Given the description of an element on the screen output the (x, y) to click on. 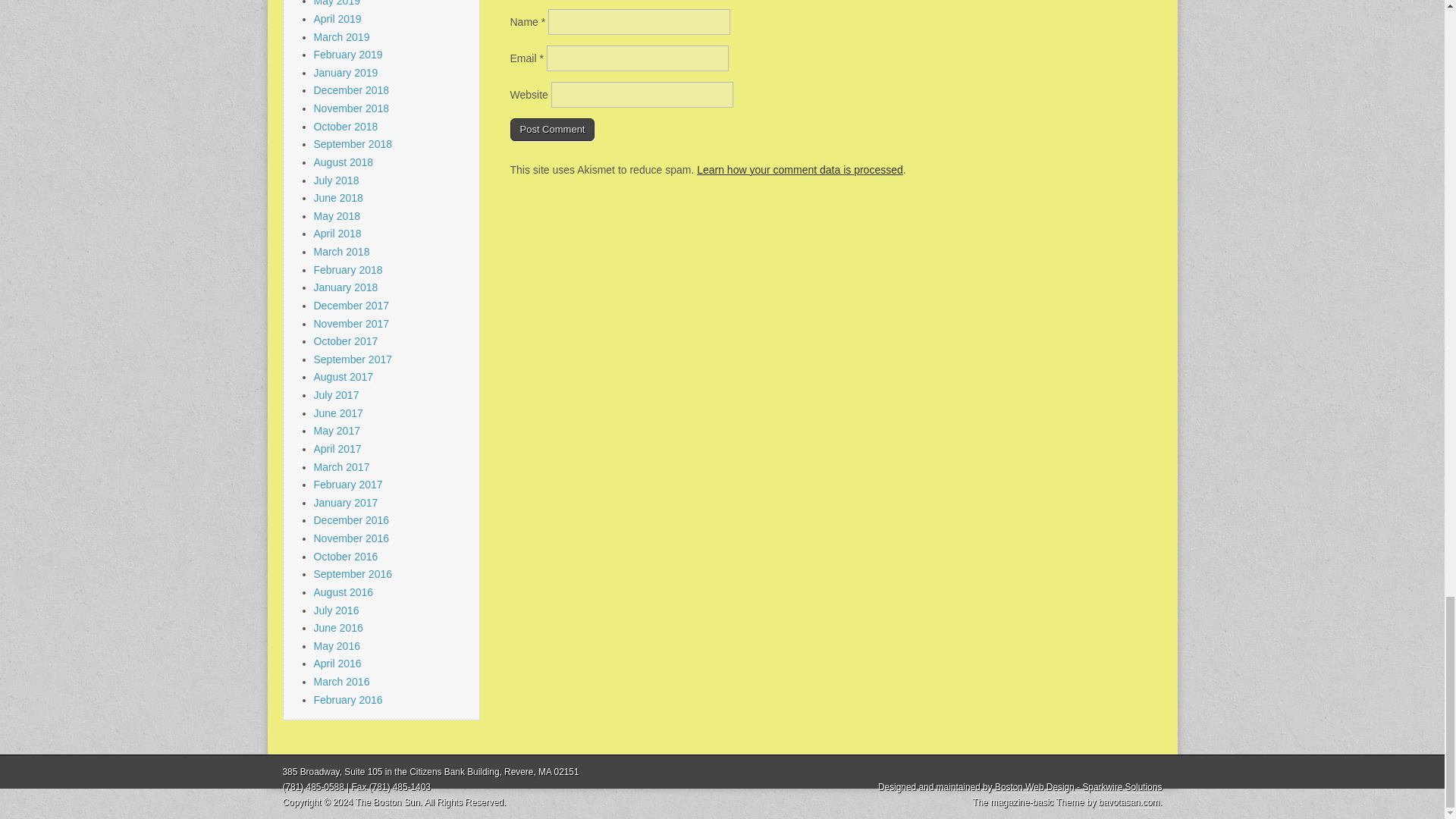
Post Comment (551, 128)
Learn how your comment data is processed (799, 169)
Post Comment (551, 128)
